Given the description of an element on the screen output the (x, y) to click on. 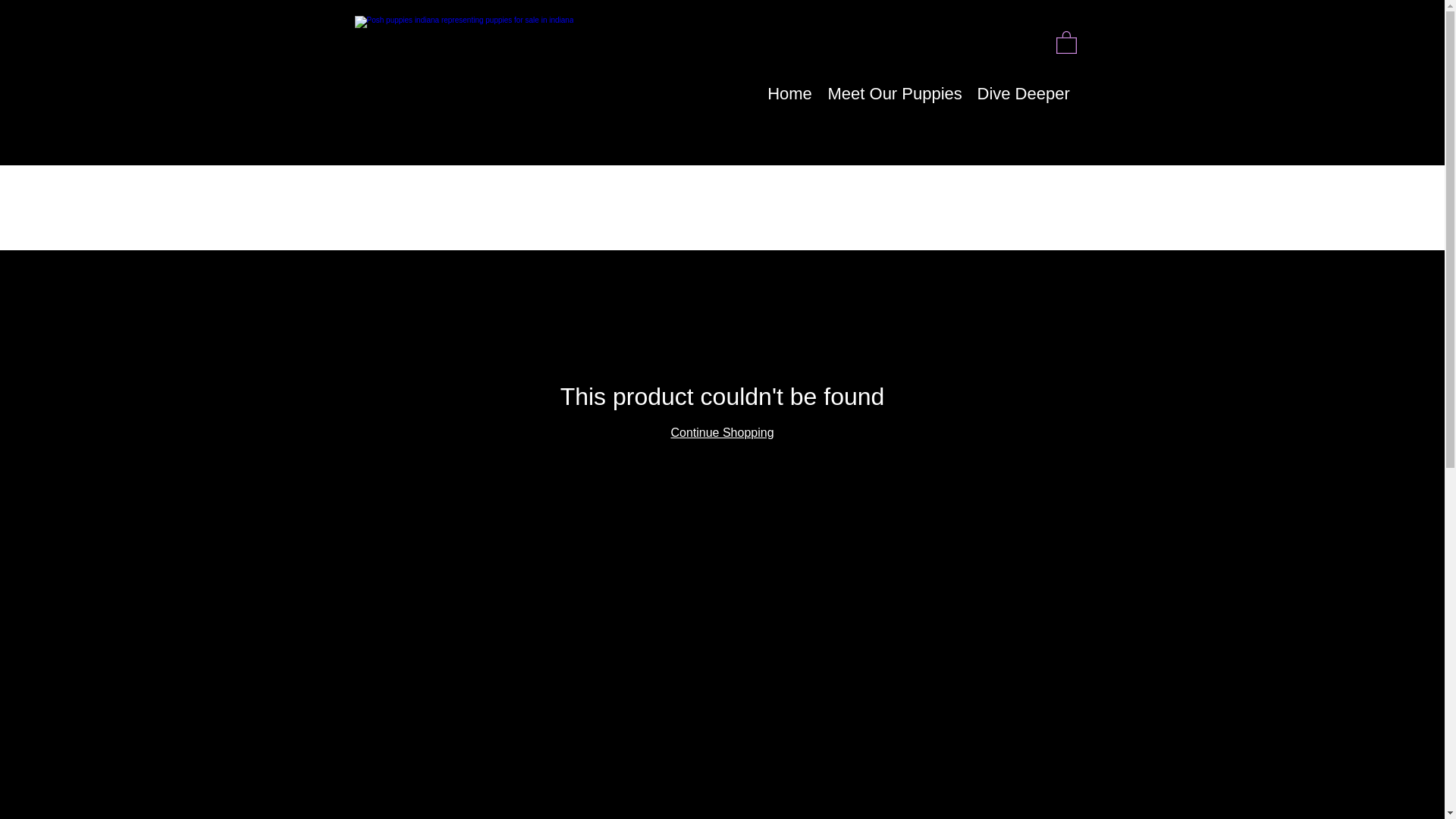
Meet Our Puppies (895, 92)
Home (790, 92)
Continue Shopping (721, 431)
